Given the description of an element on the screen output the (x, y) to click on. 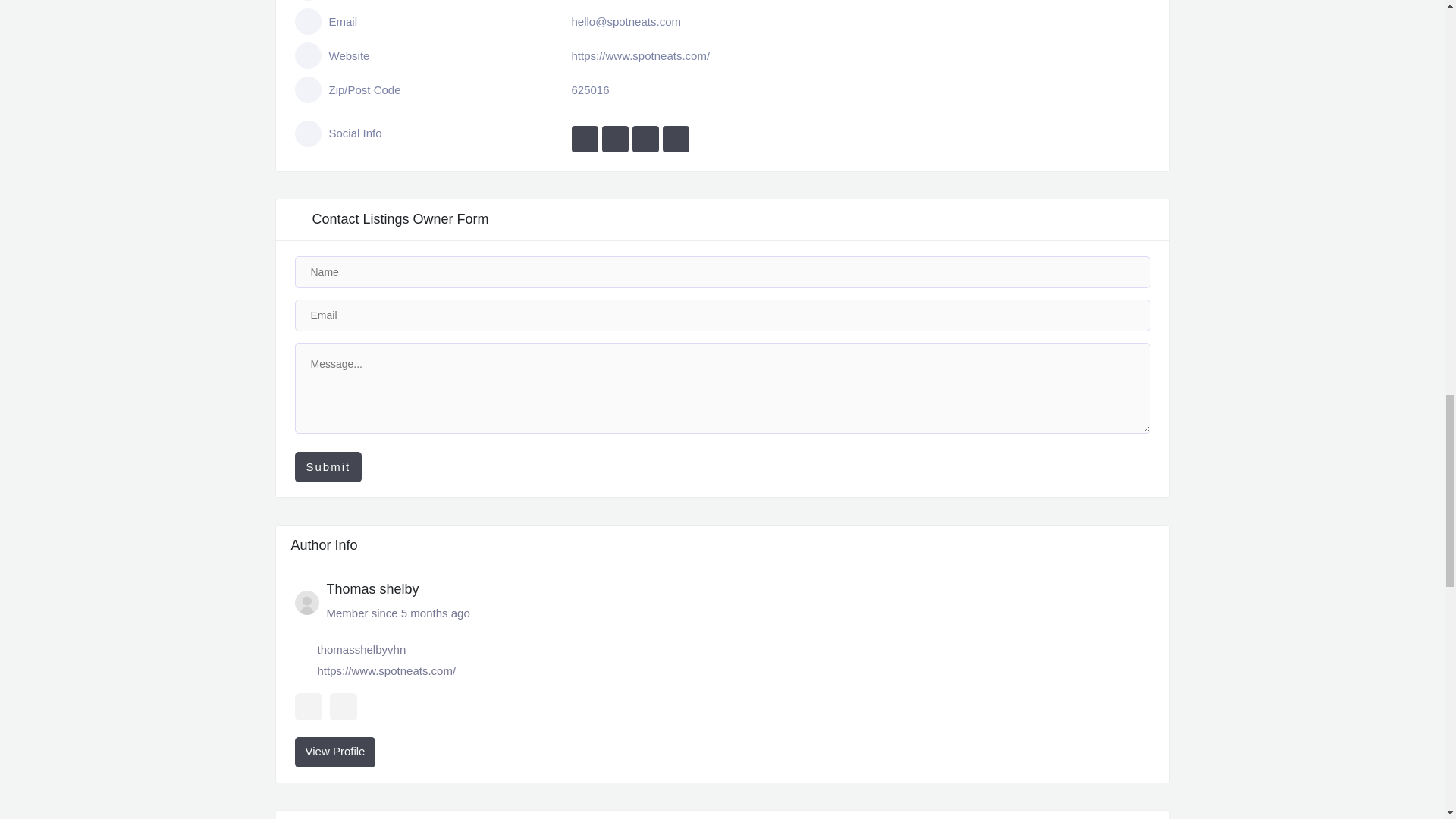
Submit (327, 467)
